Given the description of an element on the screen output the (x, y) to click on. 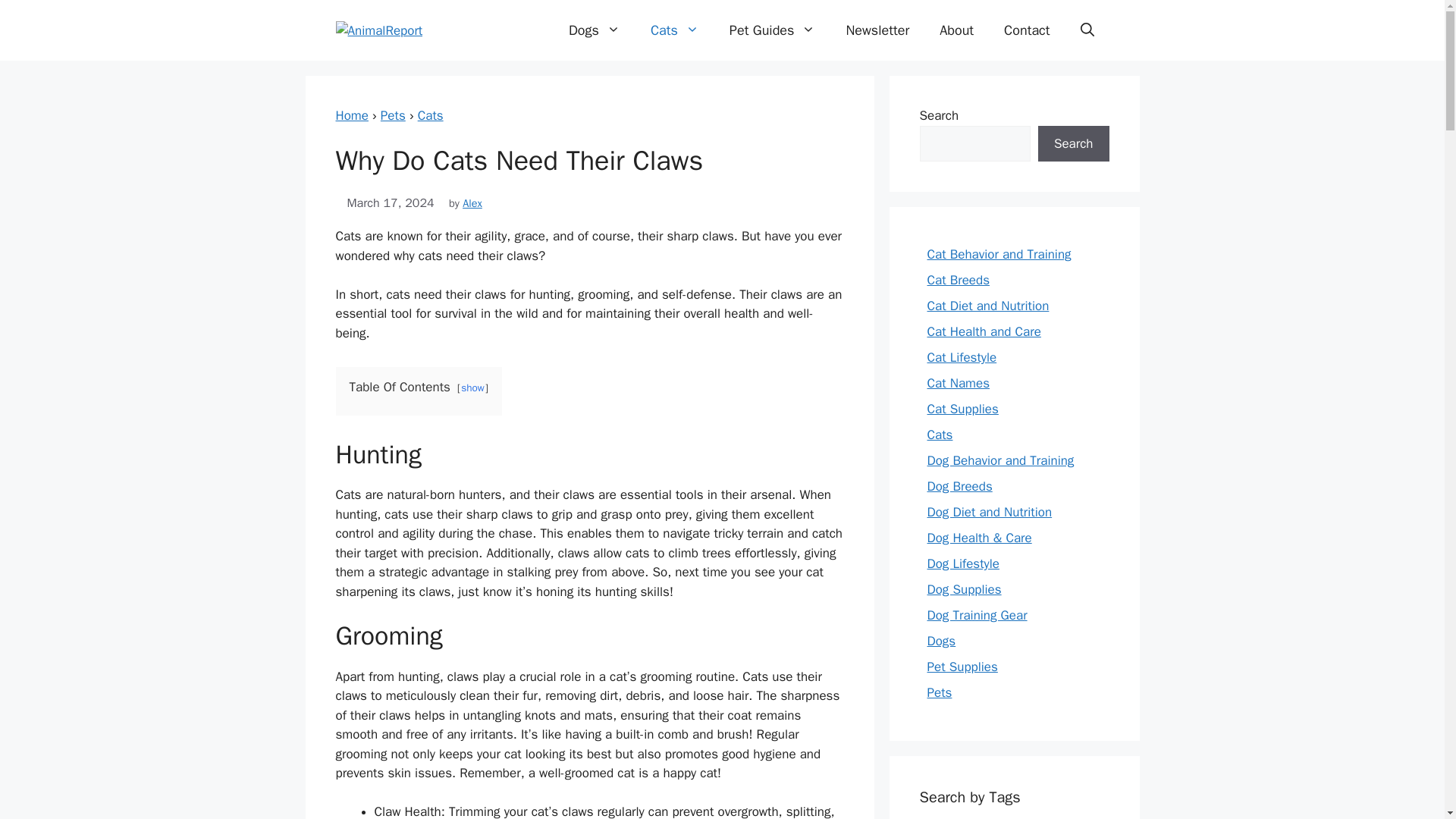
View all posts by Alex (472, 202)
Cats (674, 30)
Home (351, 115)
Dogs (593, 30)
About (956, 30)
show (472, 387)
Newsletter (876, 30)
Pets (393, 115)
Cats (430, 115)
Cats (430, 115)
Alex (472, 202)
Contact (1026, 30)
Pet Guides (772, 30)
Home (351, 115)
Pets (393, 115)
